Given the description of an element on the screen output the (x, y) to click on. 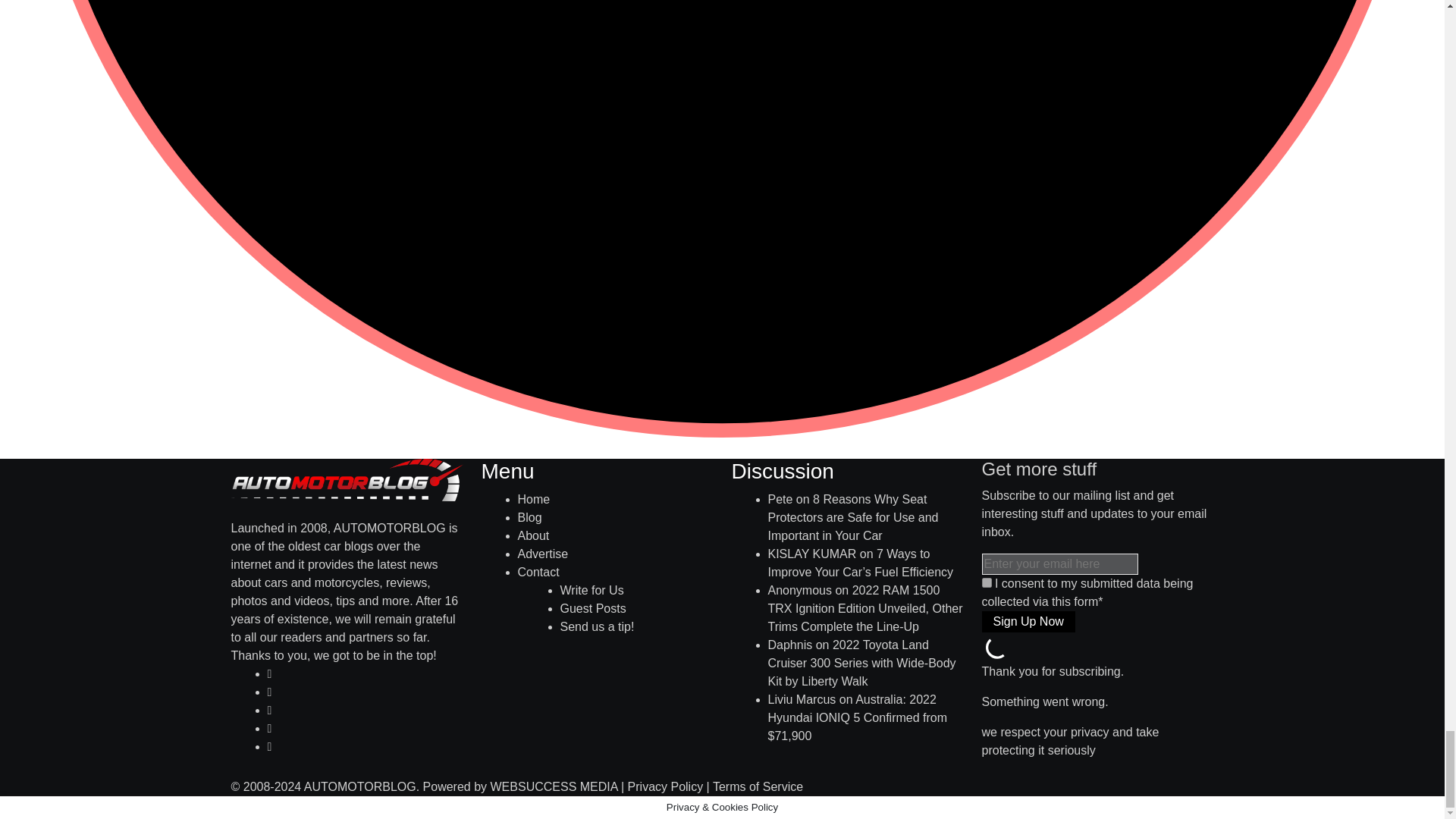
Sign Up Now (1027, 621)
on (986, 583)
